Given the description of an element on the screen output the (x, y) to click on. 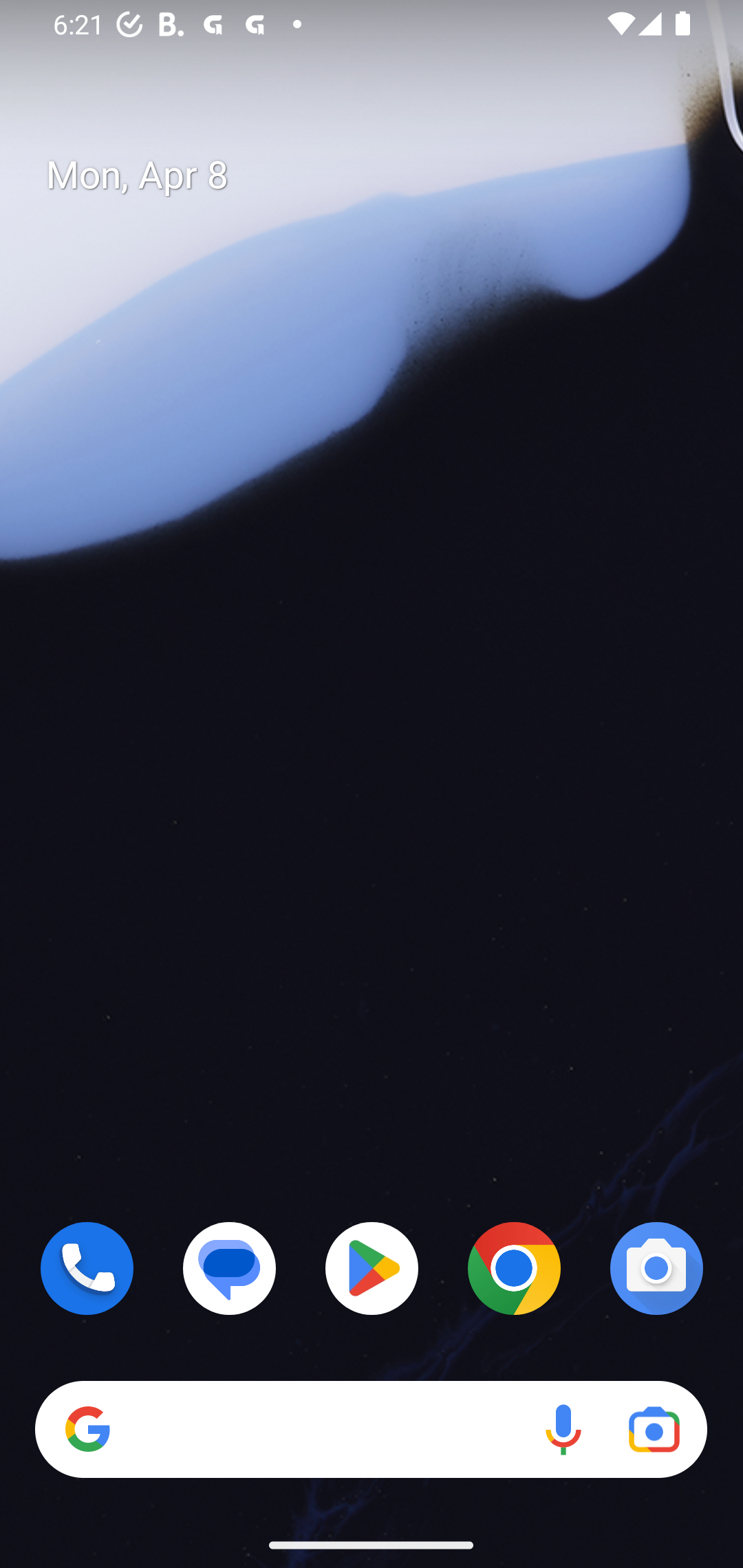
Mon, Apr 8 (386, 175)
Phone (86, 1268)
Messages (229, 1268)
Play Store (371, 1268)
Chrome (513, 1268)
Camera (656, 1268)
Search Voice search Google Lens (370, 1429)
Voice search (562, 1429)
Google Lens (653, 1429)
